Given the description of an element on the screen output the (x, y) to click on. 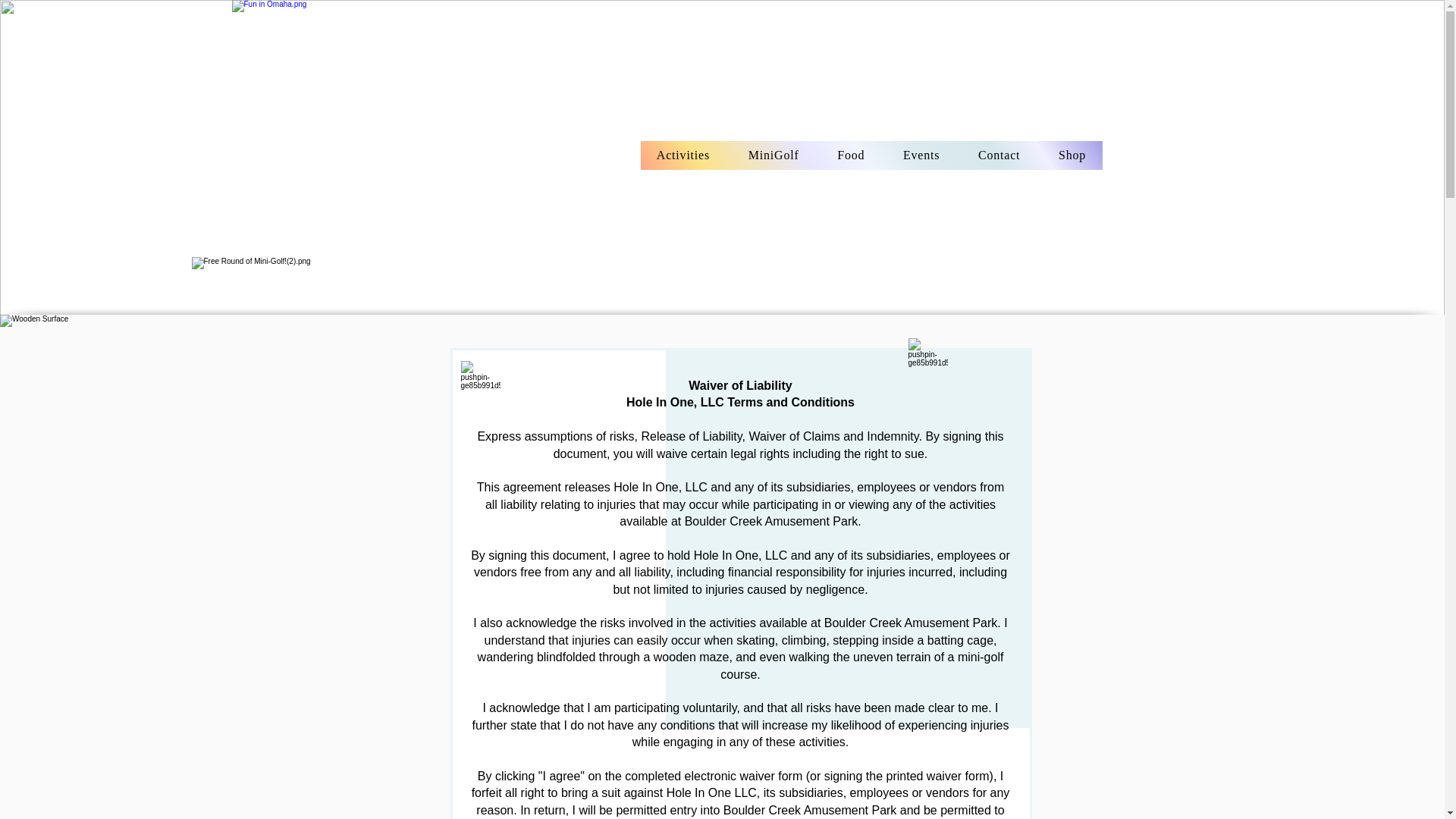
Activities (682, 154)
Events (921, 154)
Food (850, 154)
MiniGolf (773, 154)
Contact (999, 154)
Shop (1072, 154)
